Given the description of an element on the screen output the (x, y) to click on. 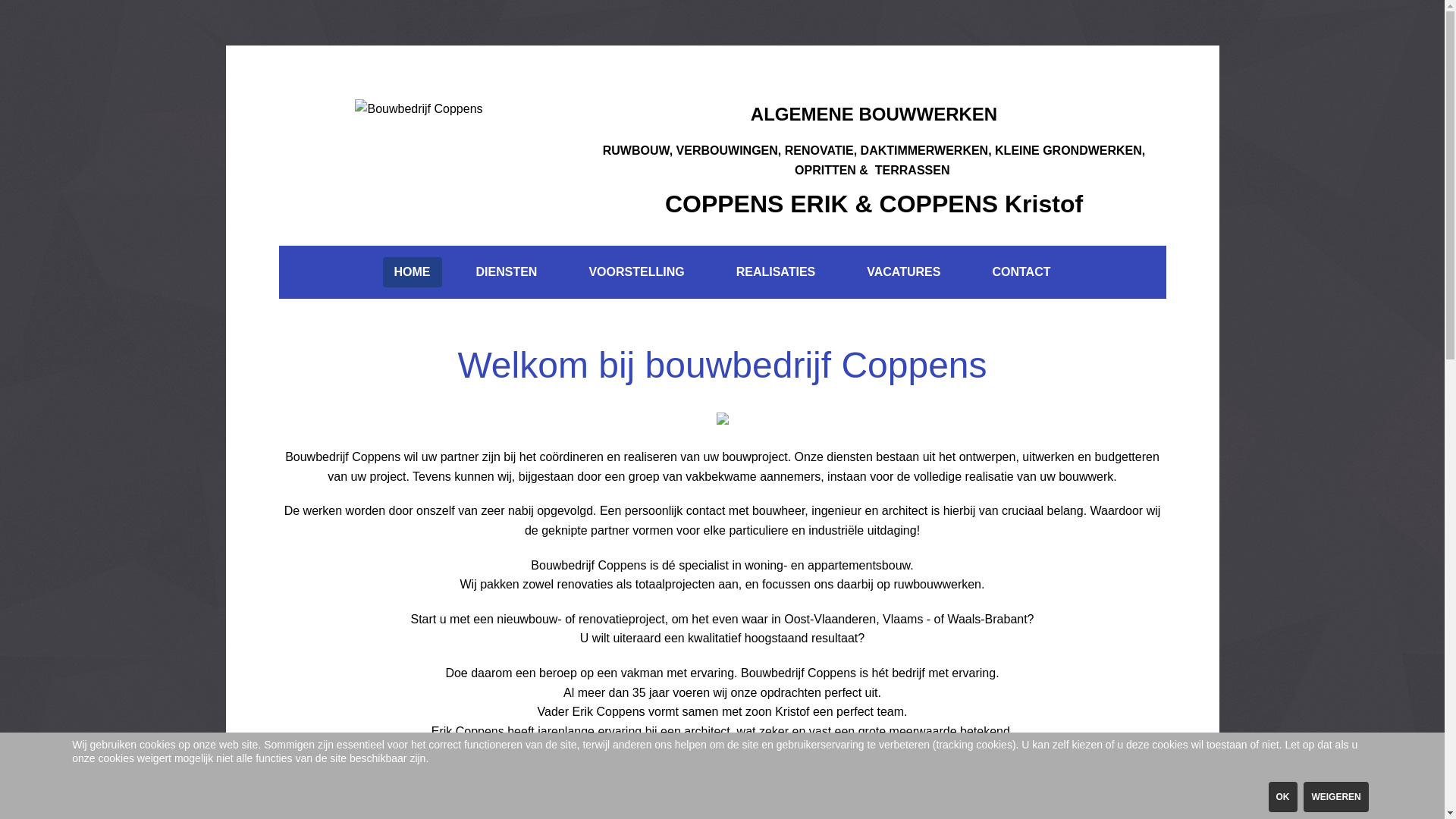
0497 54 21 65 Element type: text (977, 784)
OK Element type: text (1282, 796)
REALISATIES Element type: text (775, 272)
053 62 58 60 Element type: text (780, 784)
VACATURES Element type: text (903, 272)
VOORSTELLING Element type: text (636, 272)
0495 56 70 09 Element type: text (861, 784)
DIENSTEN Element type: text (506, 272)
CONTACT Element type: text (1020, 272)
WEIGEREN Element type: text (1335, 796)
HOME Element type: text (412, 272)
